Given the description of an element on the screen output the (x, y) to click on. 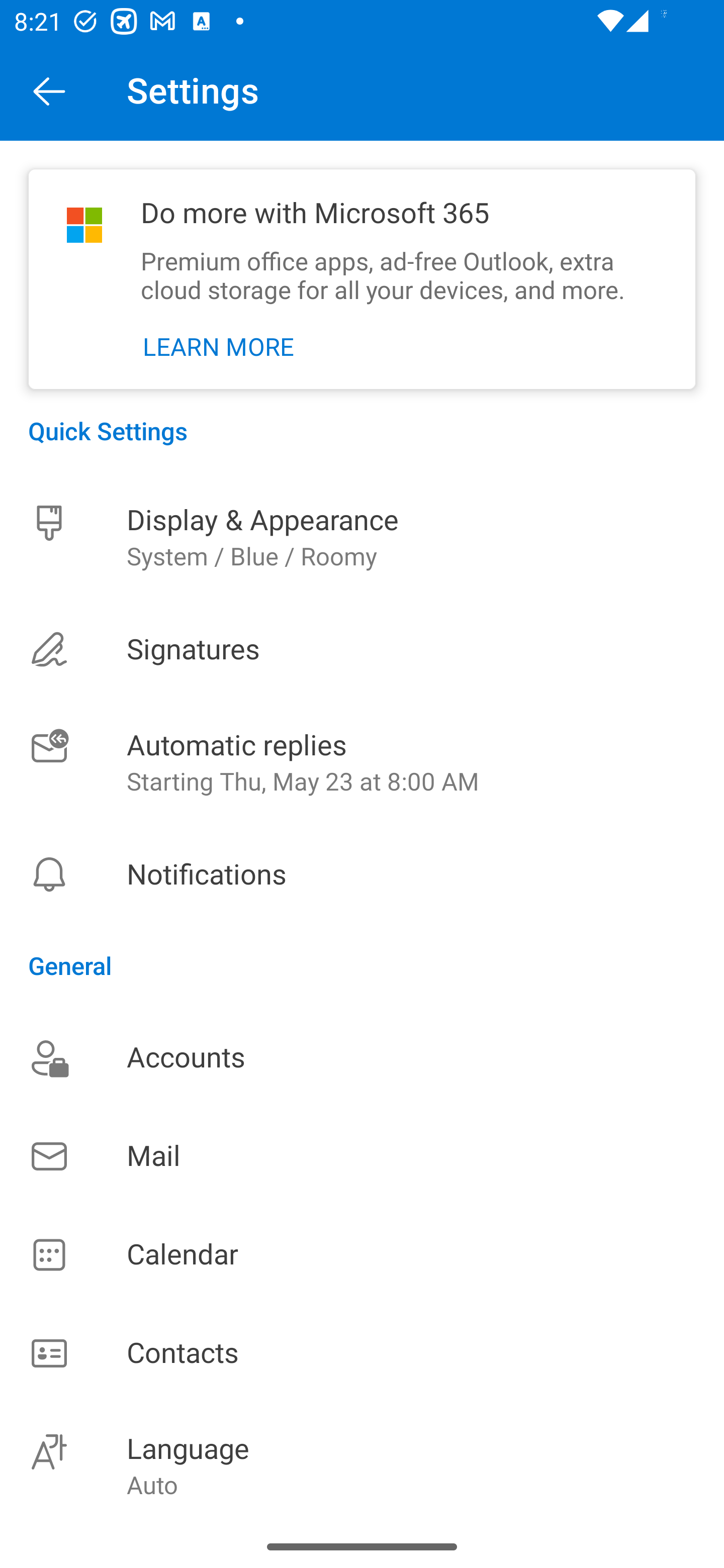
Back (49, 90)
LEARN MORE (218, 346)
Display & Appearance System / Blue / Roomy (362, 536)
Signatures (362, 649)
Automatic replies Starting Thu, May 23 at 8:00 AM (362, 762)
Notifications (362, 874)
Accounts (362, 1057)
Mail (362, 1156)
Calendar (362, 1254)
Contacts (362, 1353)
Language Auto (362, 1464)
